Given the description of an element on the screen output the (x, y) to click on. 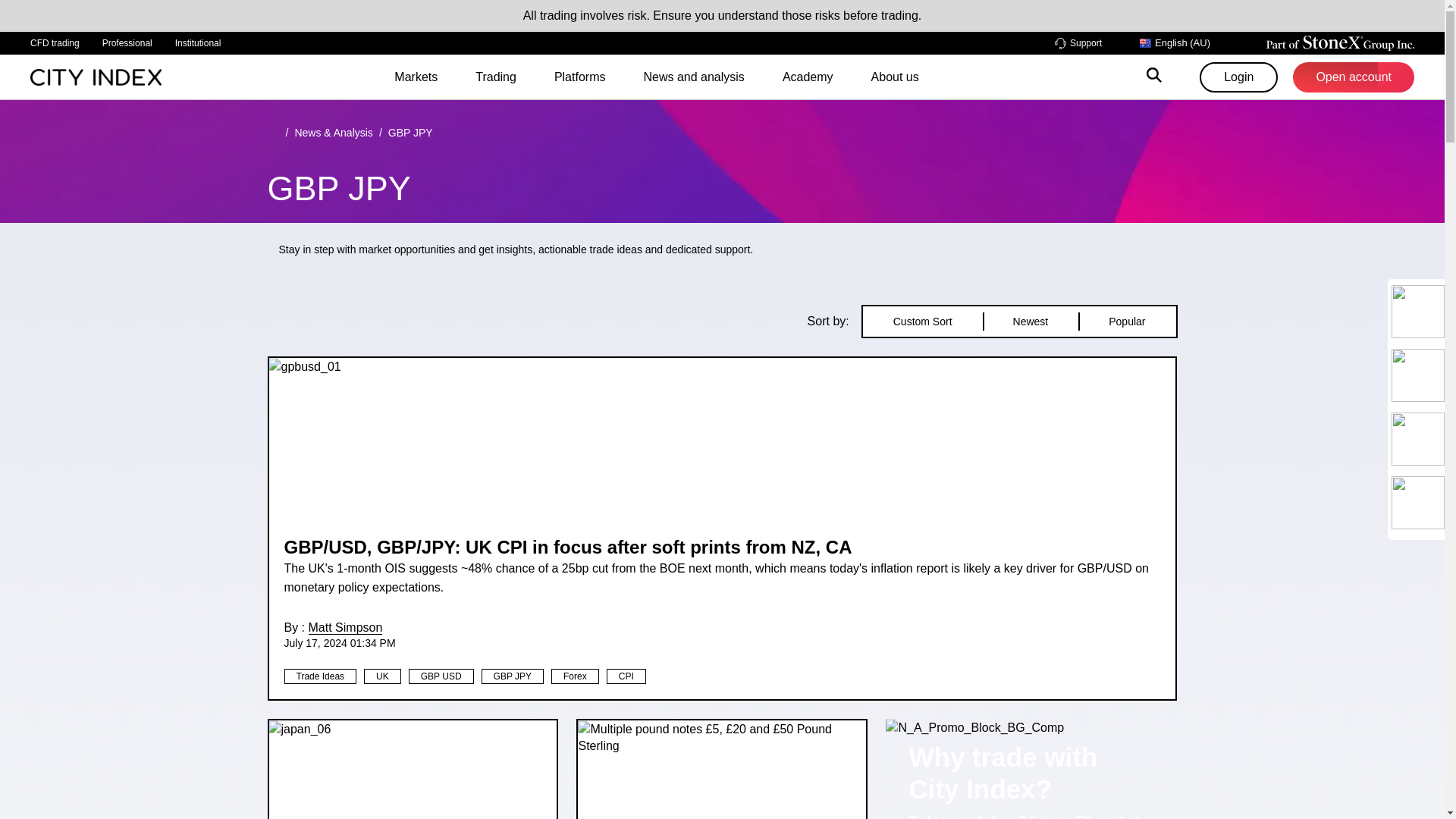
News and Analysis (333, 132)
Home (95, 76)
CFD trading (55, 42)
Professional (126, 42)
gbp jpy (410, 132)
search (1154, 77)
Institutional (197, 42)
Support (1078, 43)
Home (273, 132)
